Given the description of an element on the screen output the (x, y) to click on. 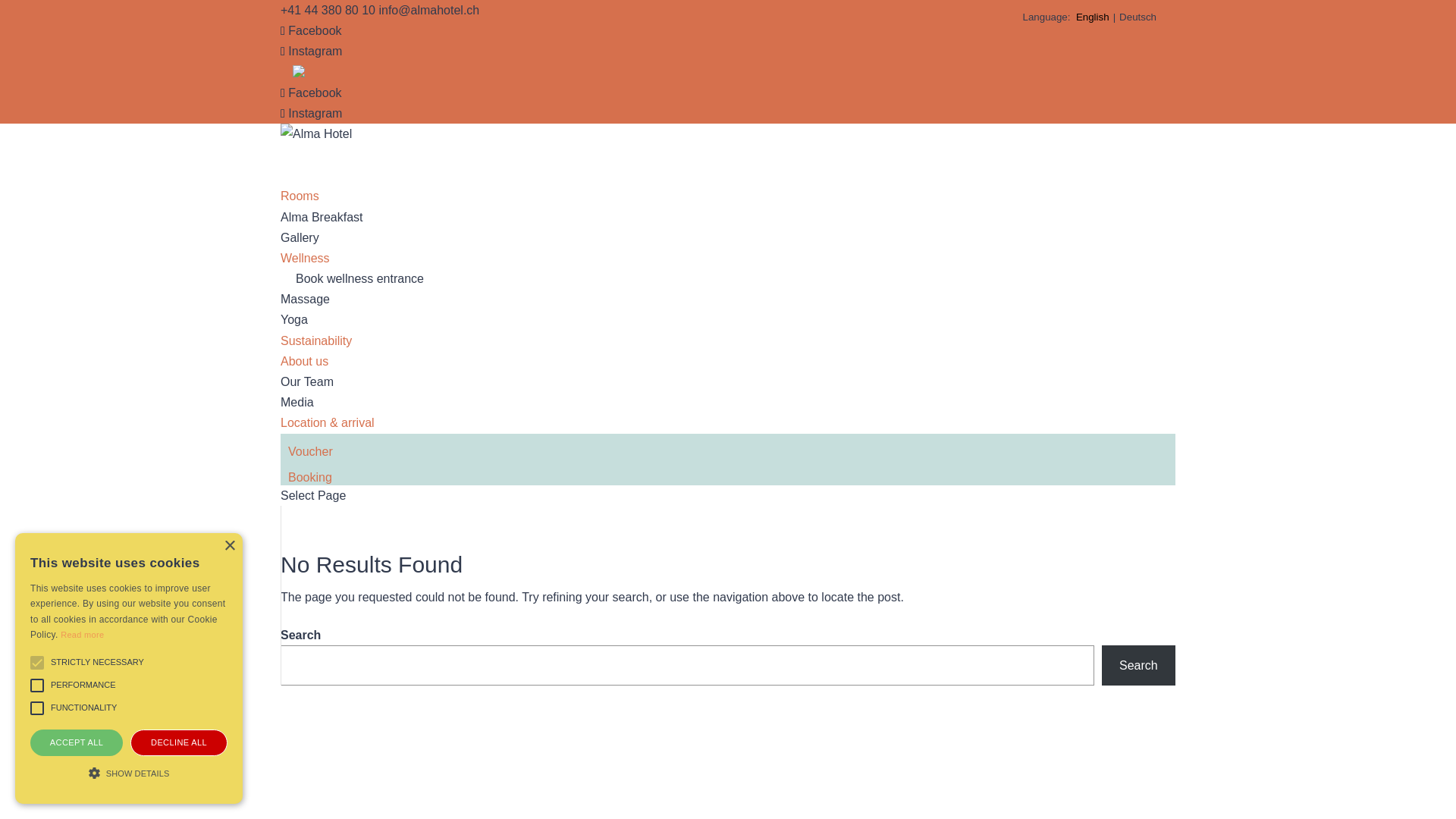
Gallery Element type: text (299, 237)
Wellness Element type: text (304, 278)
Search Element type: text (1138, 665)
info@almahotel.ch Element type: text (428, 9)
Facebook Element type: text (311, 92)
Instagram Element type: text (311, 112)
Voucher Element type: text (310, 472)
Instagram Element type: text (311, 50)
Deutsch Element type: text (1137, 16)
Rooms Element type: text (299, 216)
Our Team Element type: text (306, 381)
Media Element type: text (296, 401)
Booking Element type: text (310, 497)
Yoga Element type: text (293, 319)
Facebook Element type: text (311, 30)
English Element type: text (1092, 16)
Location & arrival Element type: text (327, 443)
Read more Element type: text (81, 634)
Alma Breakfast Element type: text (321, 216)
Book wellness entrance Element type: text (359, 278)
Sustainability Element type: text (315, 361)
About us Element type: text (304, 381)
Massage Element type: text (304, 298)
